Given the description of an element on the screen output the (x, y) to click on. 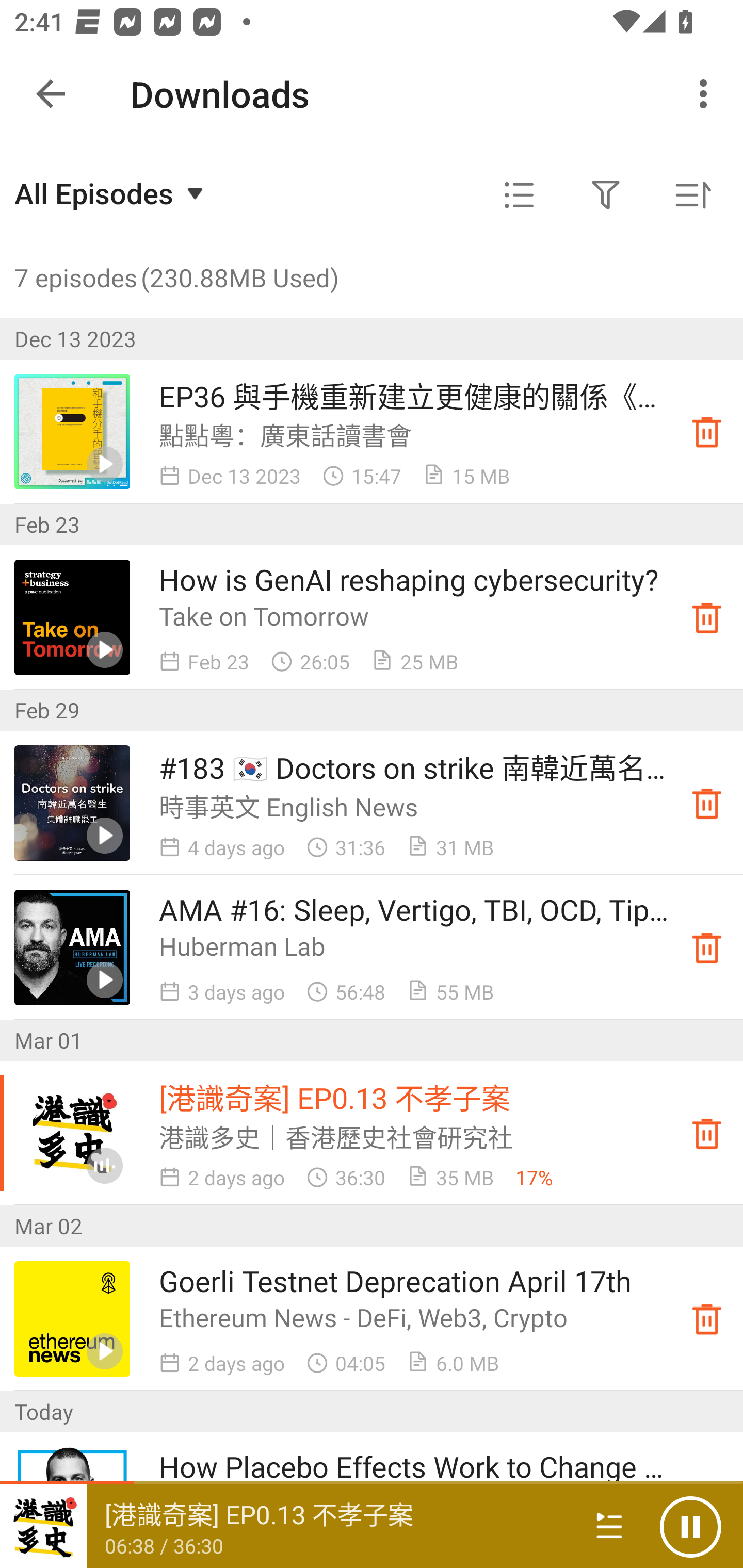
Navigate up (50, 93)
More options (706, 93)
All Episodes (111, 192)
 (518, 195)
 (605, 195)
 Sorted by oldest first (692, 195)
Downloaded (706, 431)
Downloaded (706, 617)
Downloaded (706, 802)
Downloaded (706, 947)
Downloaded (706, 1133)
Downloaded (706, 1318)
[港識奇案] EP0.13 不孝子案 06:38 / 36:30 (283, 1525)
Pause (690, 1526)
